Given the description of an element on the screen output the (x, y) to click on. 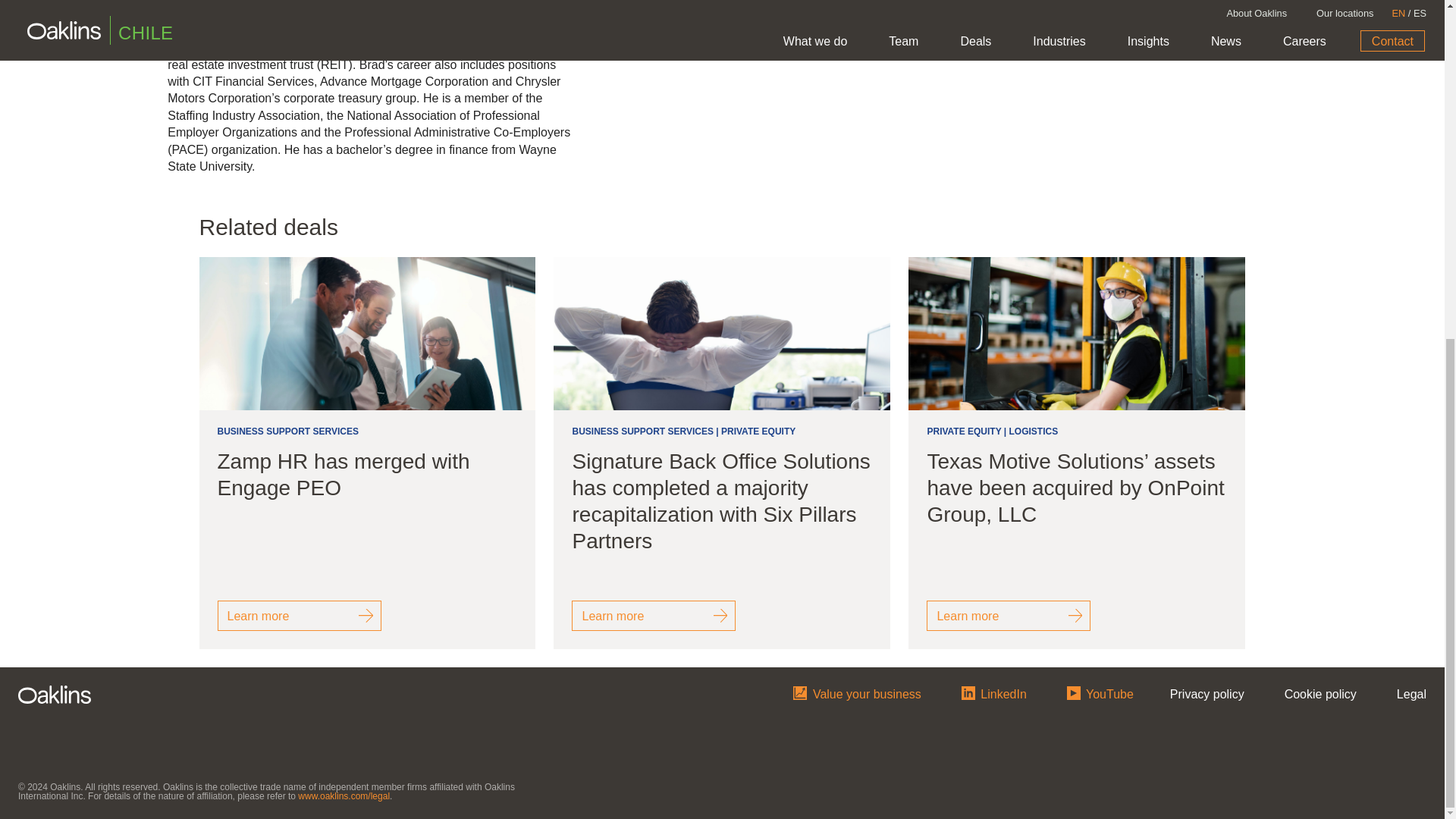
Learn more (1008, 615)
Learn more (653, 615)
Learn more (298, 615)
